Given the description of an element on the screen output the (x, y) to click on. 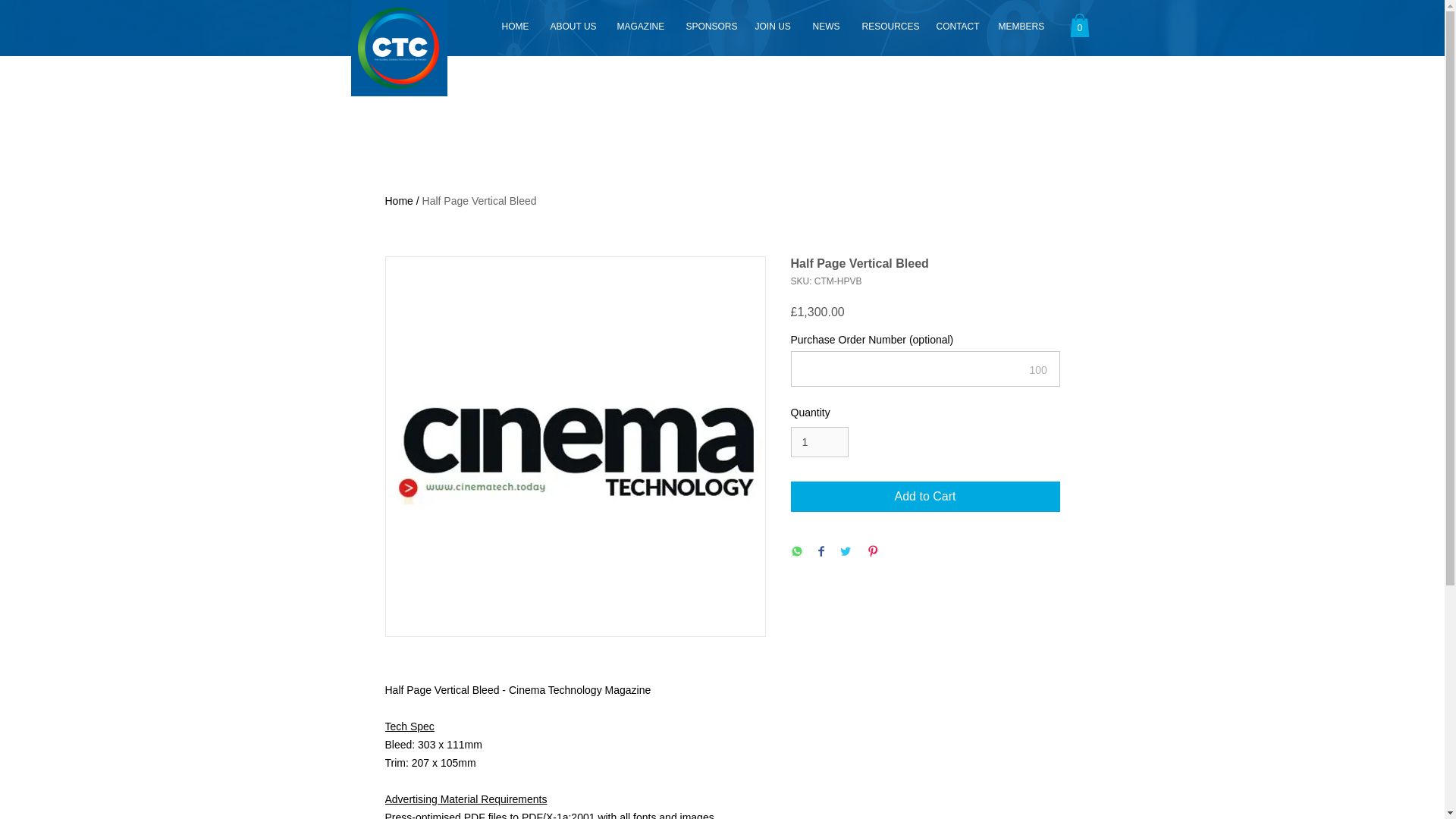
MEMBERS (1019, 26)
NEWS (825, 26)
SPONSORS (709, 26)
1 (818, 441)
ABOUT US (571, 26)
HOME (513, 26)
RESOURCES (887, 26)
JOIN US (771, 26)
Home (399, 200)
MAGAZINE (639, 26)
